Given the description of an element on the screen output the (x, y) to click on. 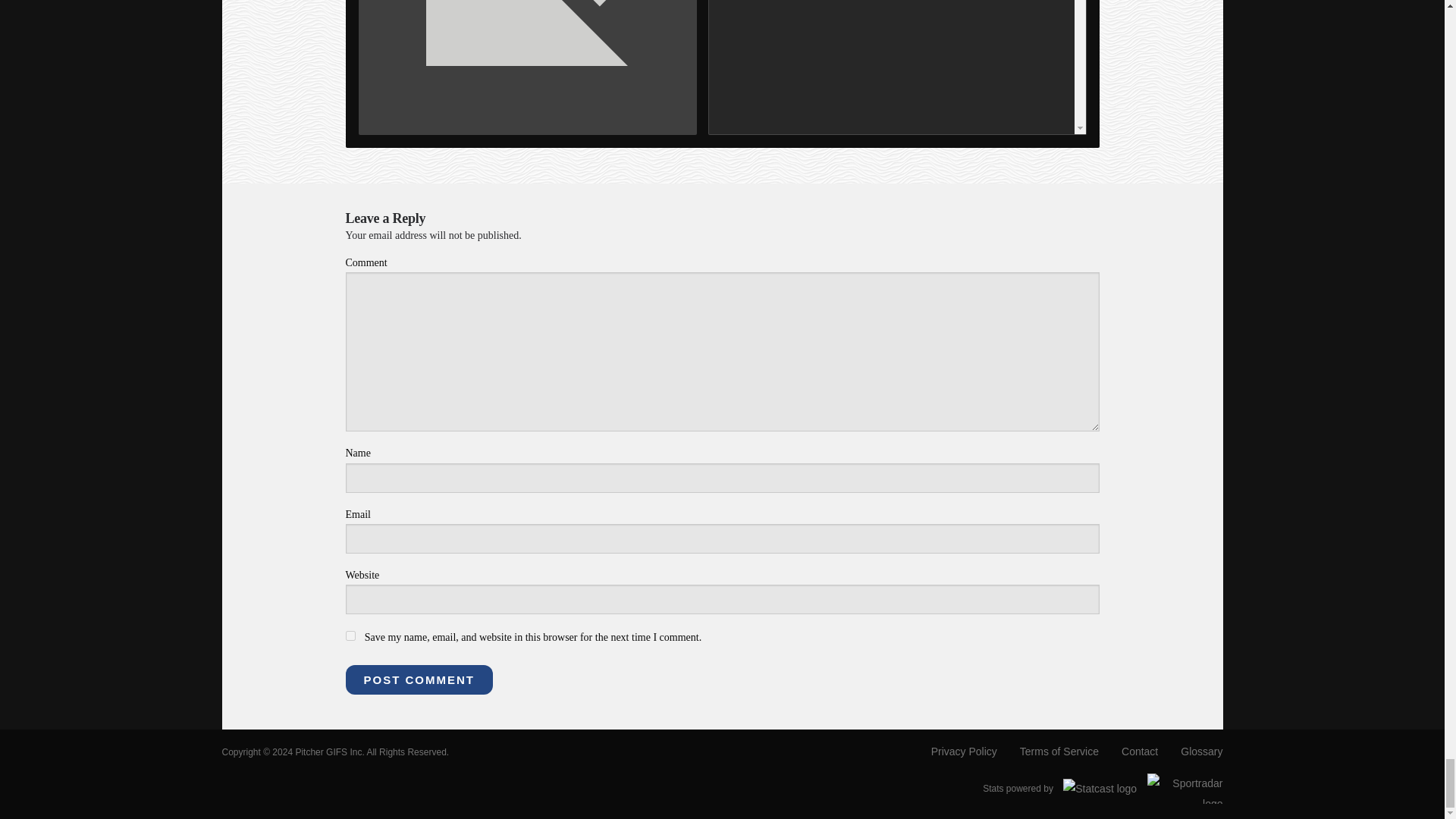
yes (350, 635)
Post Comment (419, 679)
